Given the description of an element on the screen output the (x, y) to click on. 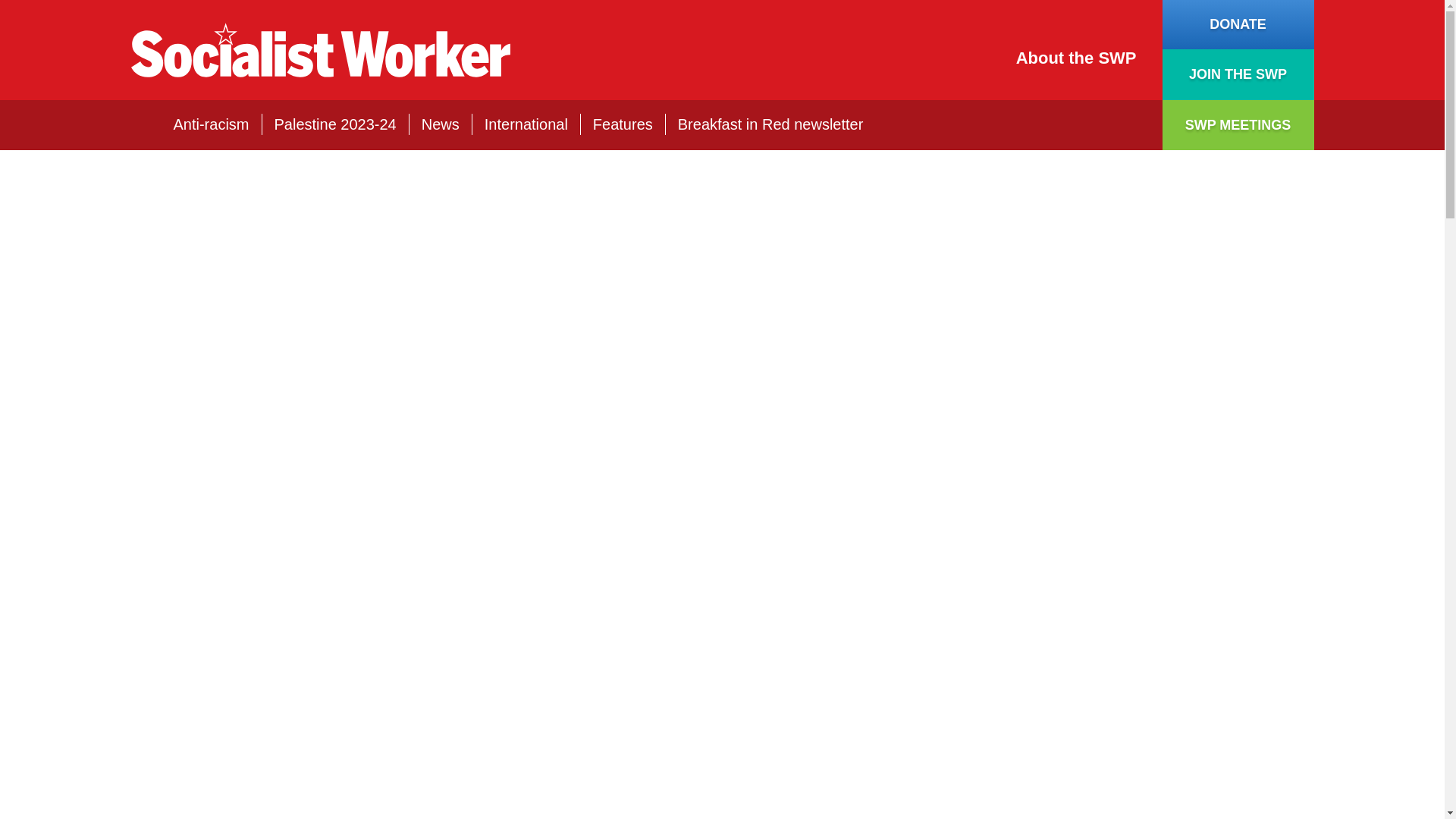
Palestine 2023-24 (335, 124)
Search Button (1123, 124)
JOIN THE SWP (1237, 74)
Submit (1123, 124)
Features (622, 124)
News (441, 124)
DONATE (1237, 24)
About the SWP (1076, 57)
Anti-racism (210, 124)
About the SWP (1076, 57)
